Given the description of an element on the screen output the (x, y) to click on. 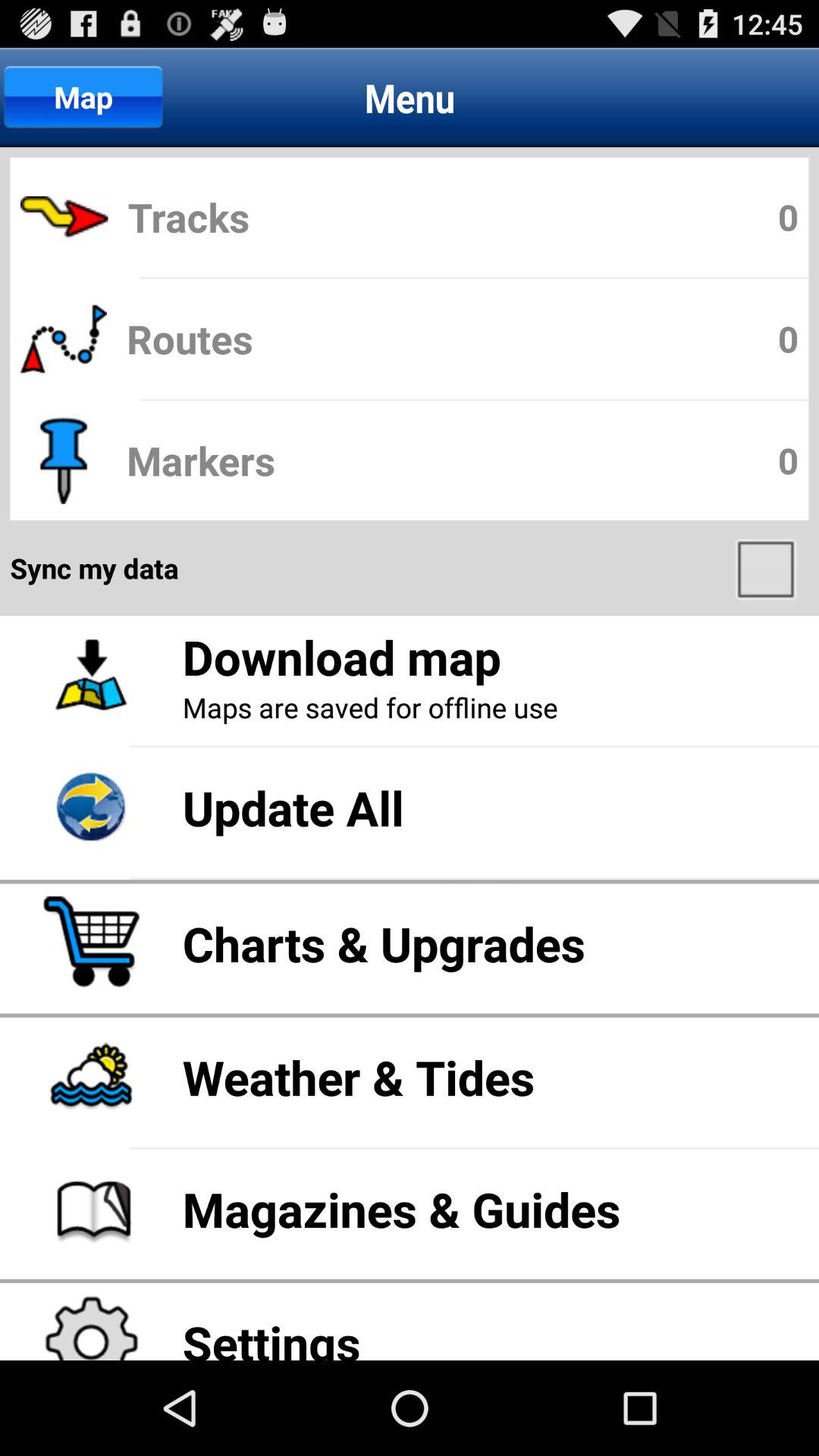
choose the icon to the right of the sync my data (767, 567)
